Given the description of an element on the screen output the (x, y) to click on. 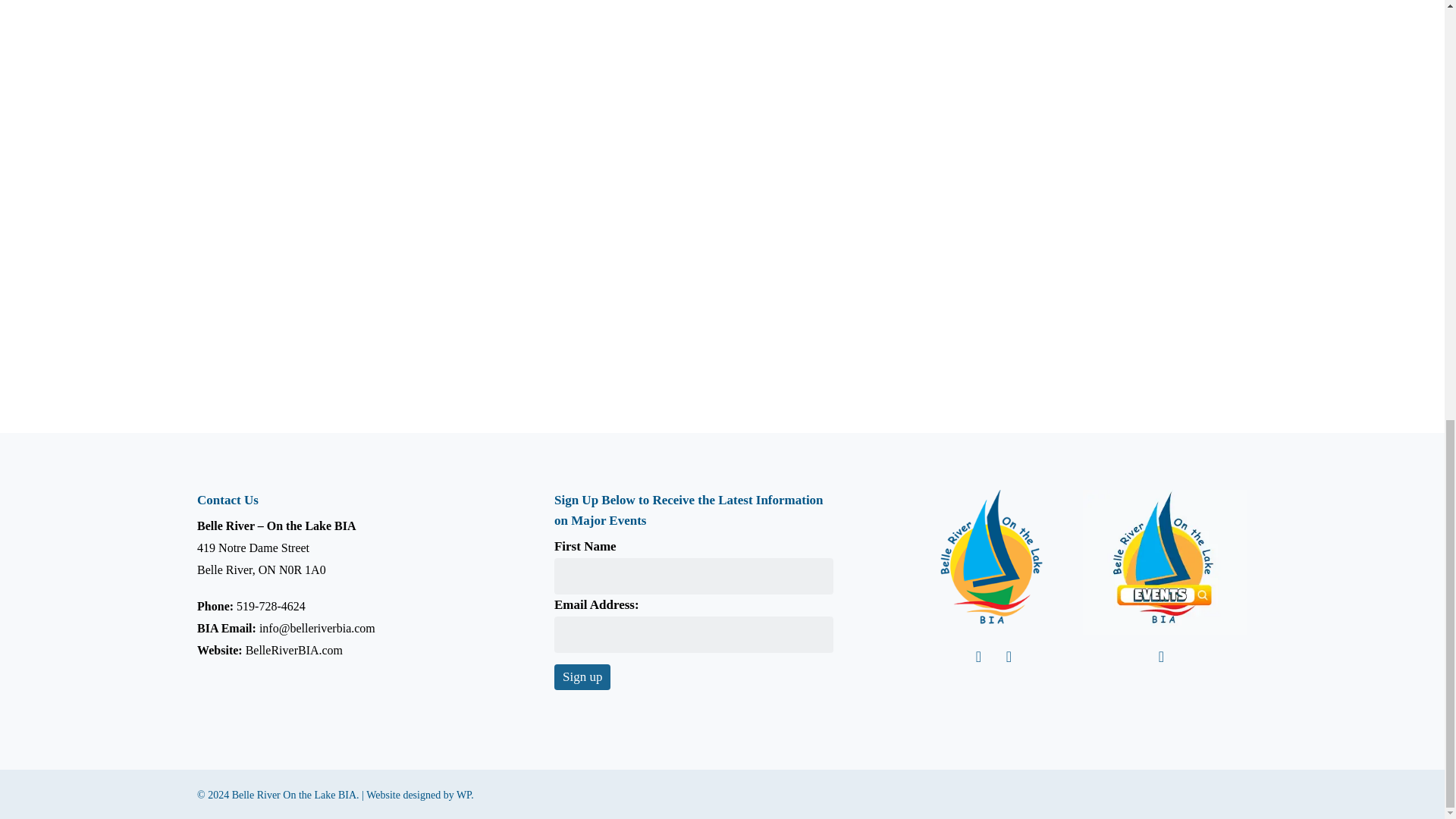
Sign up (582, 677)
